Given the description of an element on the screen output the (x, y) to click on. 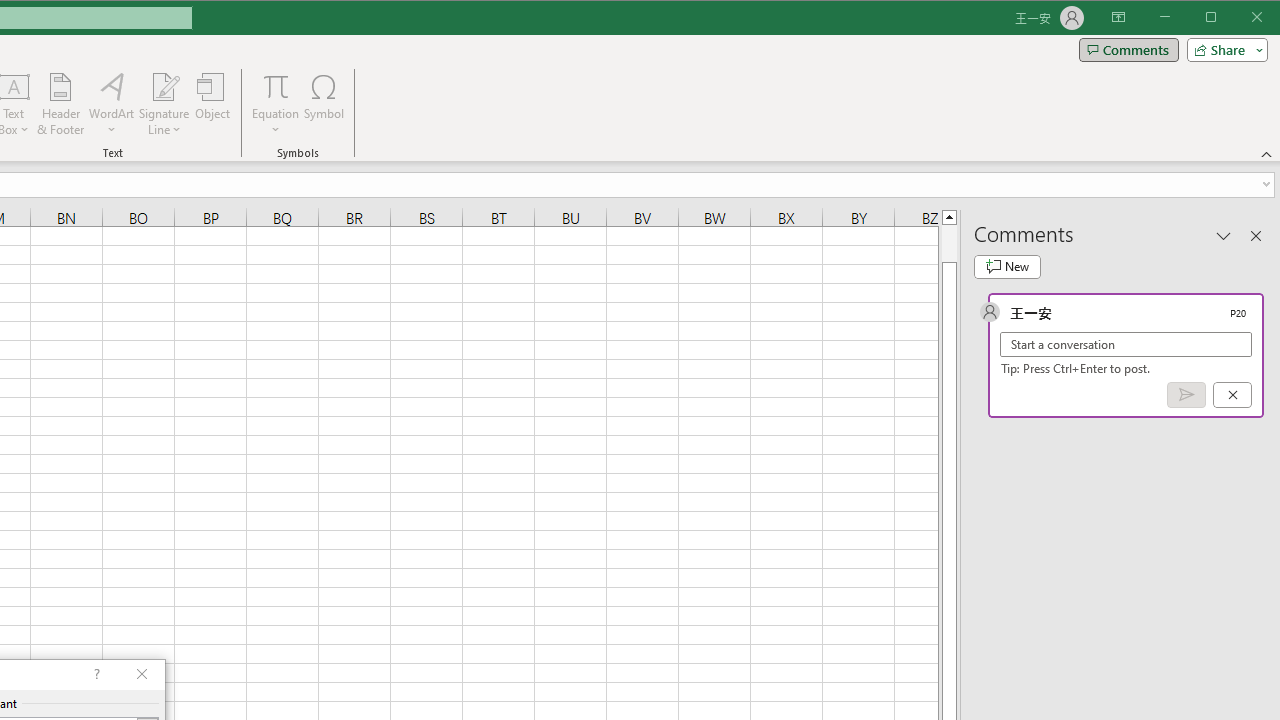
Signature Line (164, 86)
Post comment (Ctrl + Enter) (1186, 395)
Signature Line (164, 104)
Page up (948, 243)
Symbol... (324, 104)
